Given the description of an element on the screen output the (x, y) to click on. 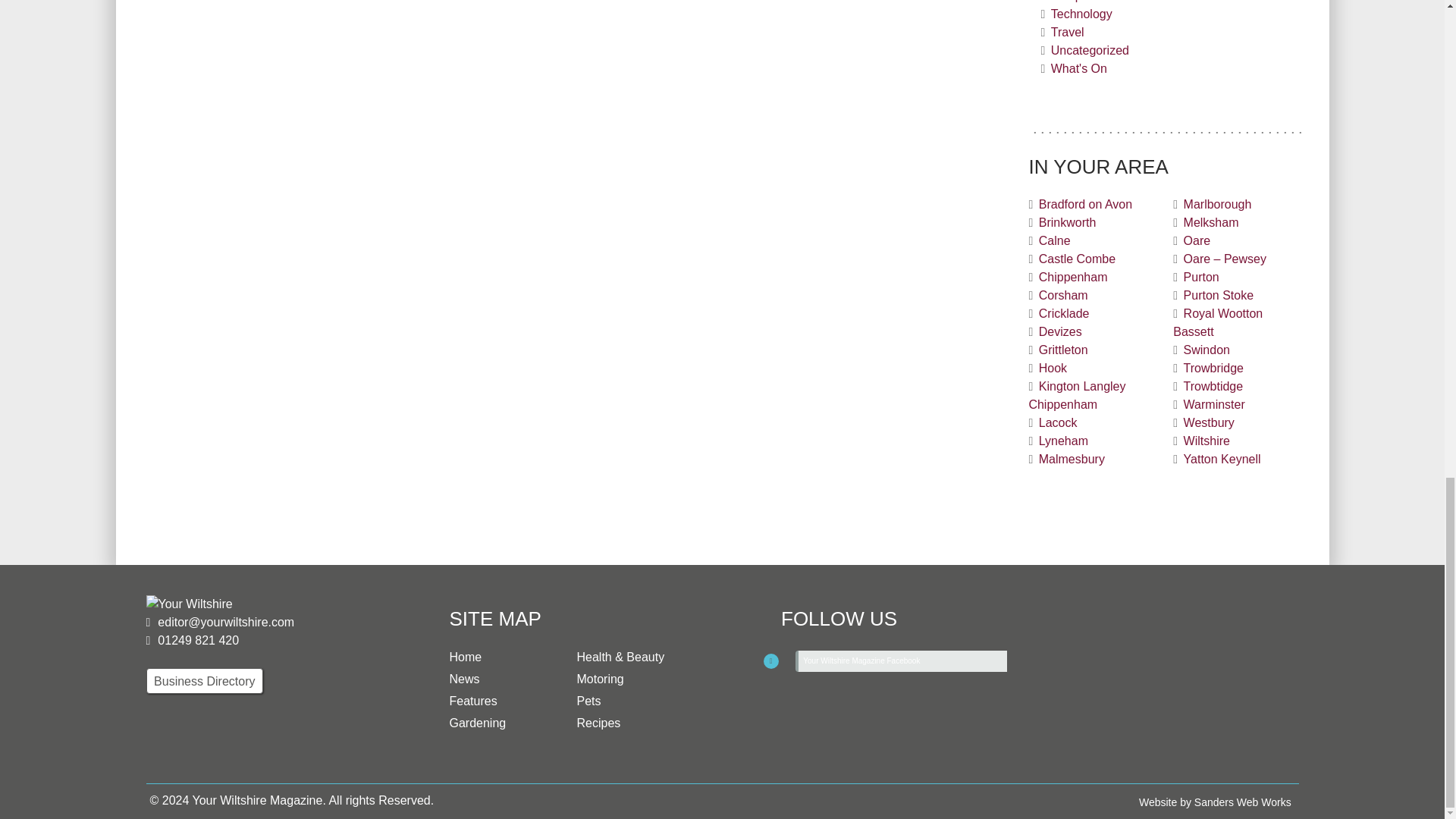
Sanders Web Works - Web Design agency for hire in Wiltshire (1214, 801)
Visit Business Directory page (204, 680)
Your Wiltshire Magazine on Facebook (766, 664)
